Given the description of an element on the screen output the (x, y) to click on. 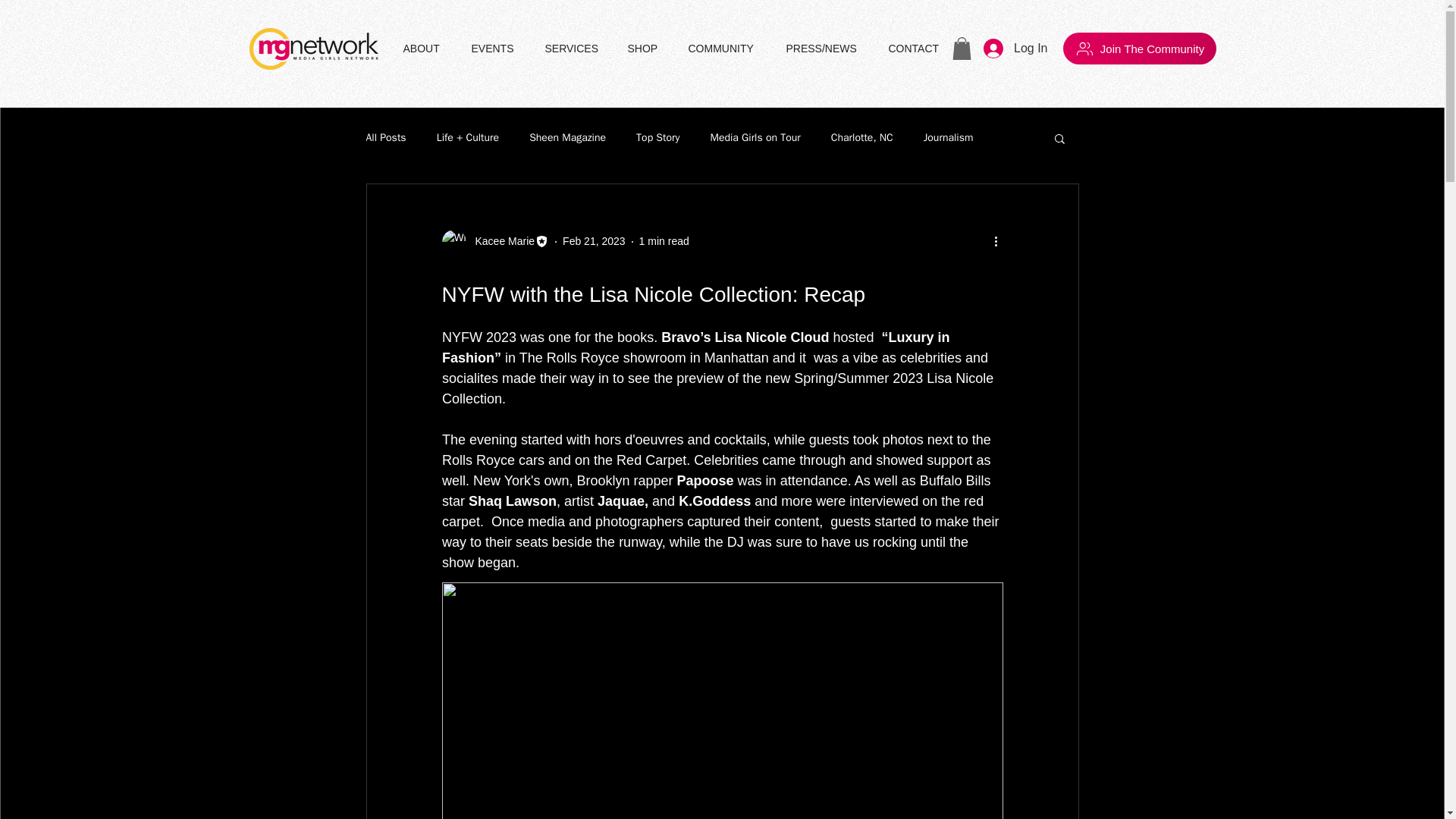
Join The Community (1138, 48)
Charlotte, NC (862, 137)
Sheen Magazine (567, 137)
SHOP (646, 48)
1 min read (663, 241)
Feb 21, 2023 (594, 241)
Top Story (657, 137)
Media Girls on Tour (754, 137)
ABOUT (425, 48)
Log In (1015, 48)
